Given the description of an element on the screen output the (x, y) to click on. 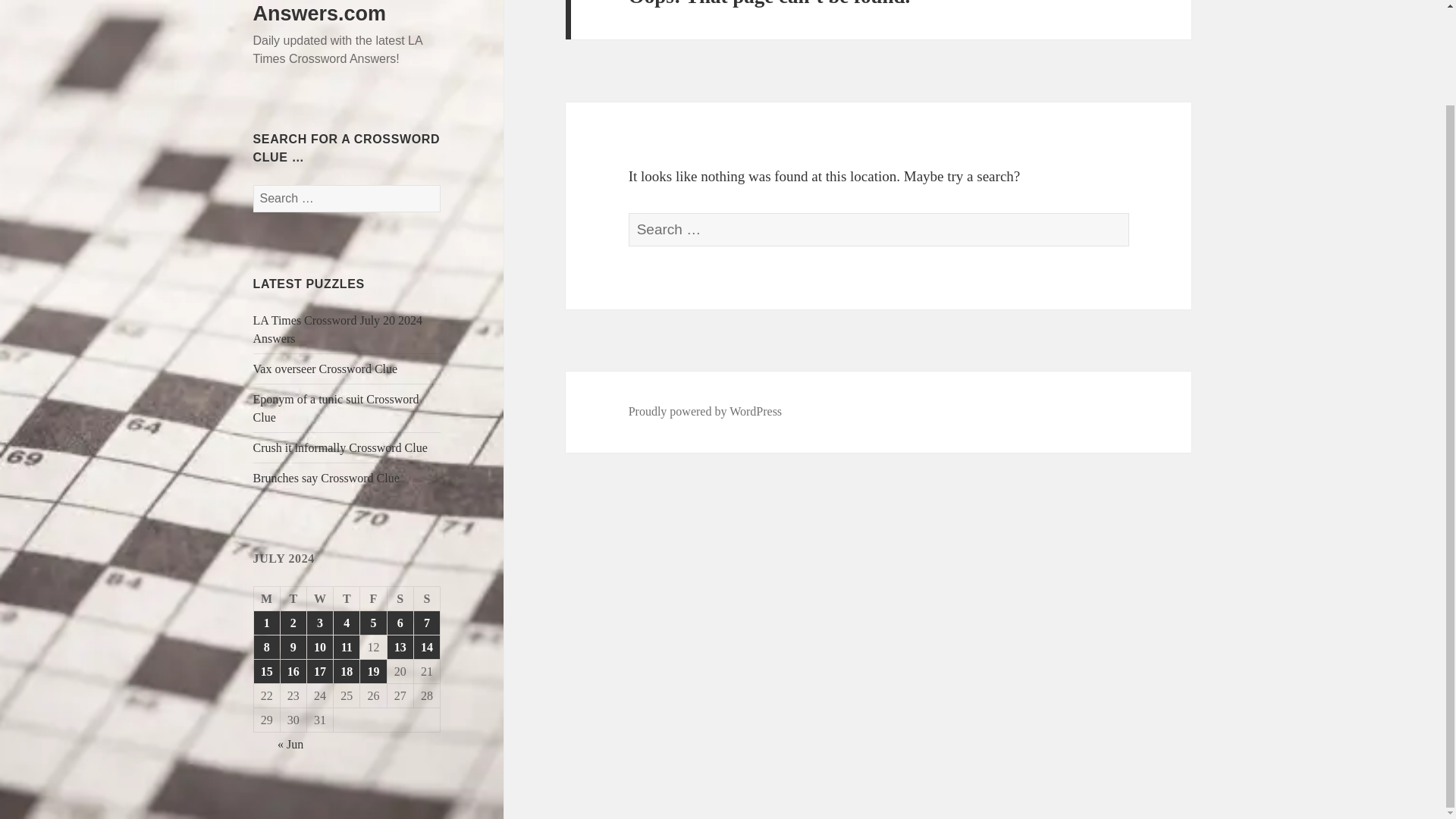
13 (400, 647)
9 (293, 647)
Saturday (400, 598)
15 (266, 671)
2 (293, 622)
LA Times Crossword July 20 2024 Answers (338, 328)
1 (266, 622)
19 (372, 671)
Sunday (427, 598)
11 (346, 647)
4 (346, 622)
16 (293, 671)
17 (320, 671)
